Given the description of an element on the screen output the (x, y) to click on. 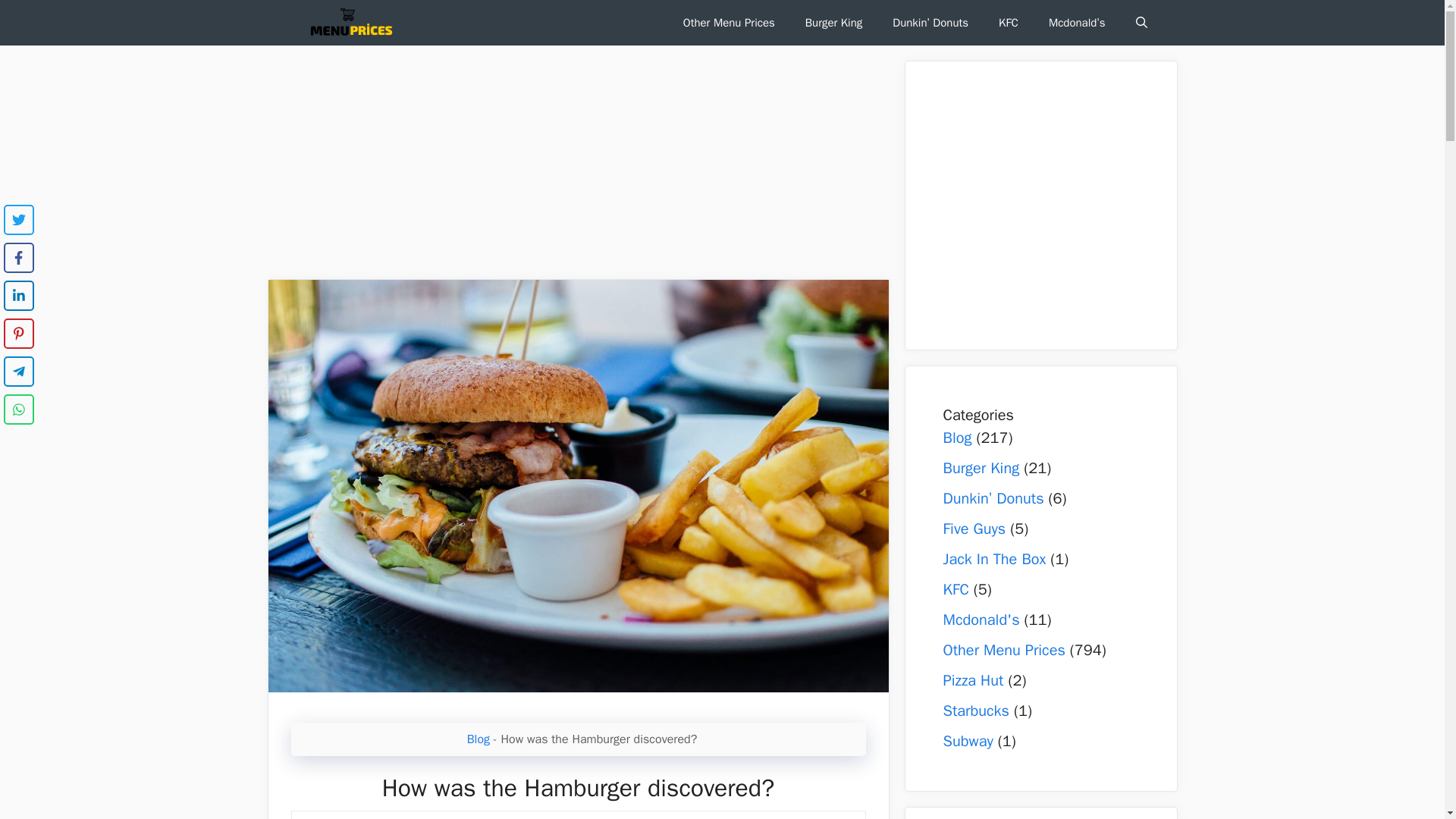
KFC (956, 588)
Other Menu Prices (729, 22)
Pizza Hut (973, 680)
Advertisement (1071, 205)
Jack In The Box (994, 558)
Blog (957, 437)
Other Menu Prices (1004, 650)
Mcdonald's (981, 619)
KFC (1008, 22)
Starbucks (976, 710)
Five Guys (974, 528)
Burger King (981, 467)
Advertisement (577, 166)
Burger King (833, 22)
